Given the description of an element on the screen output the (x, y) to click on. 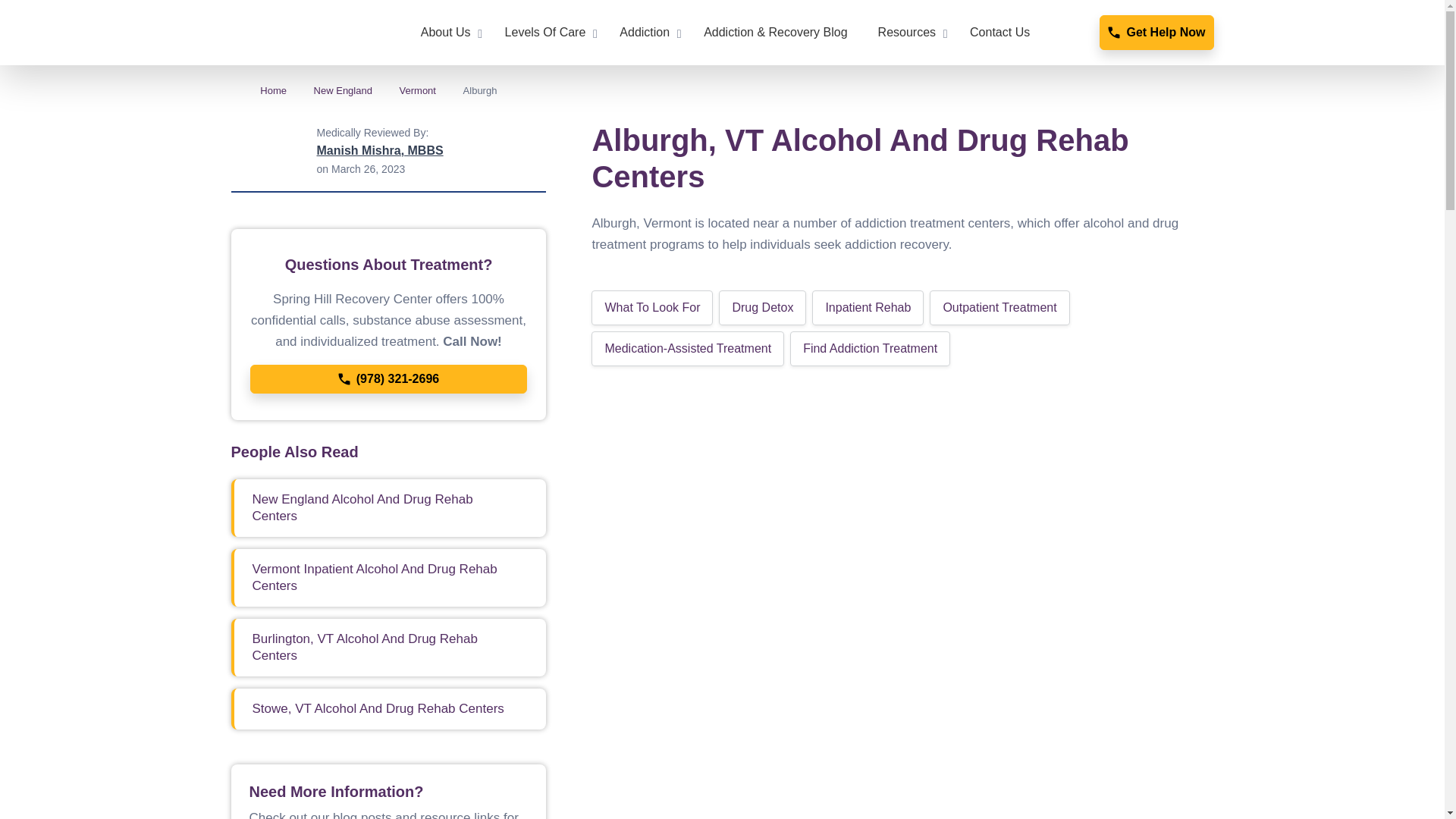
About Us (447, 32)
Addiction (646, 32)
Levels Of Care (547, 32)
